Given the description of an element on the screen output the (x, y) to click on. 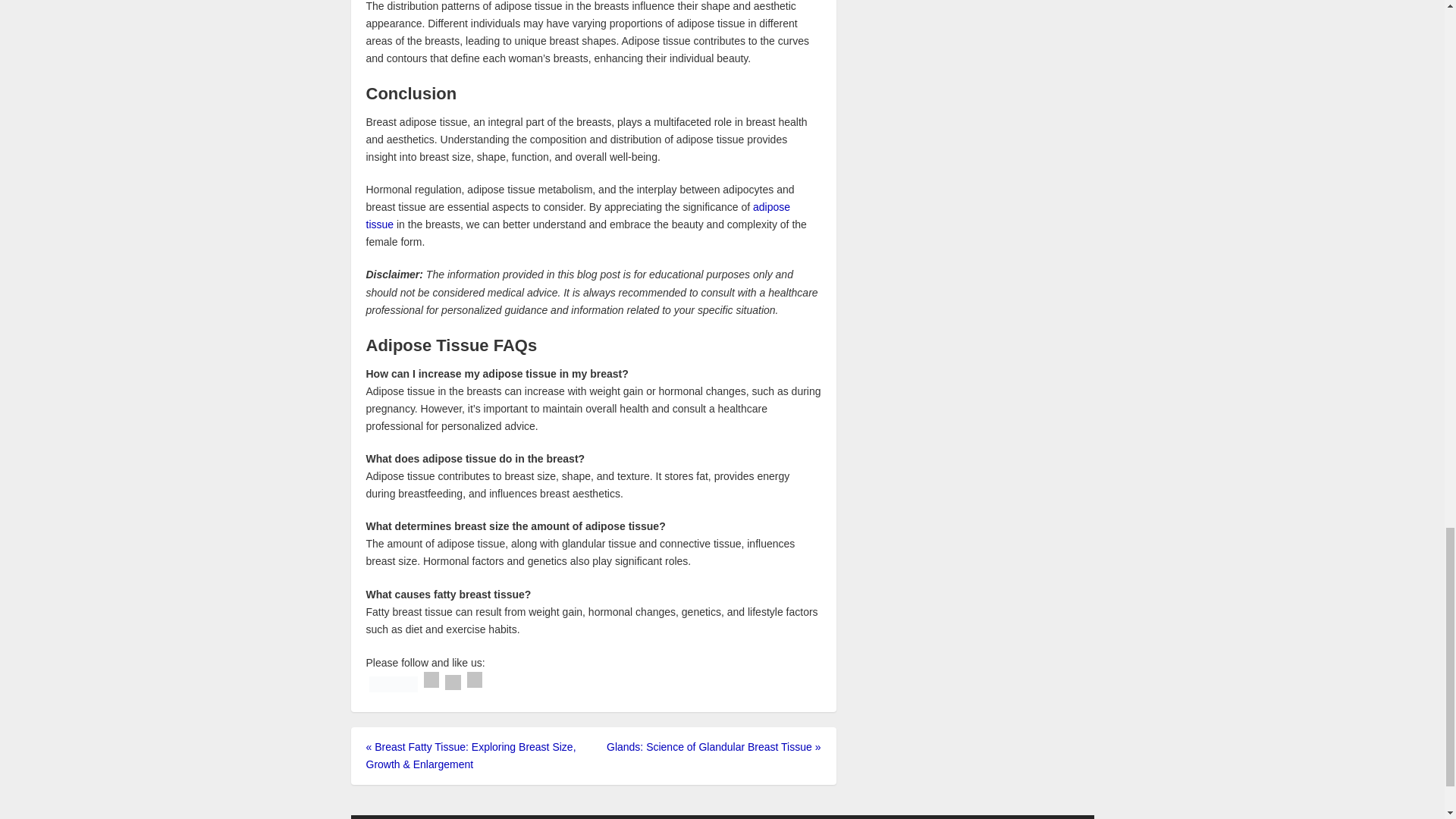
Pin Share (475, 679)
adipose tissue (577, 215)
Facebook Share (431, 679)
Tweet (453, 682)
